Given the description of an element on the screen output the (x, y) to click on. 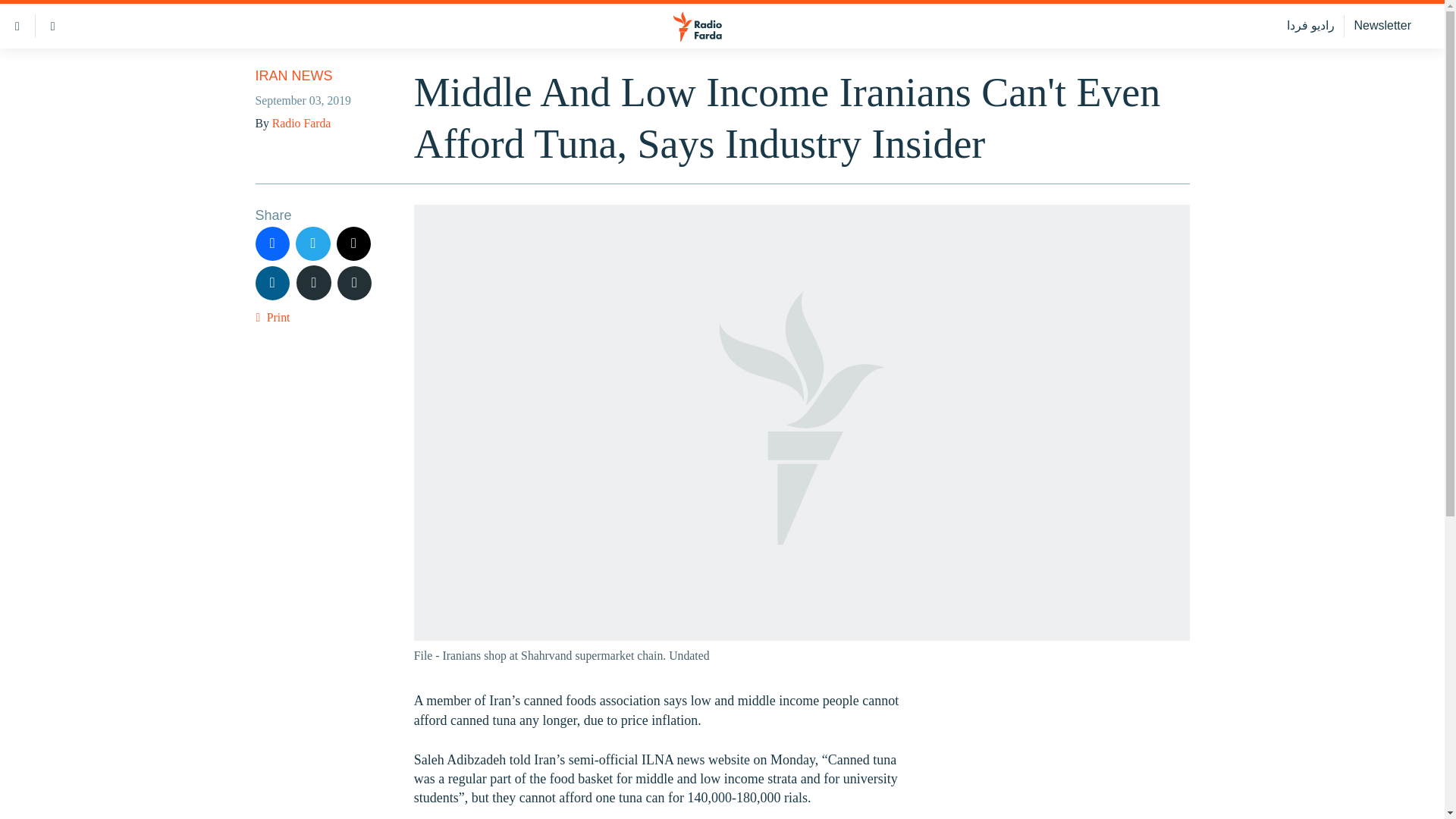
text (314, 282)
IRAN NEWS (292, 75)
Radio Farda (301, 123)
Newsletter (1382, 25)
Newsletter (1382, 25)
